Given the description of an element on the screen output the (x, y) to click on. 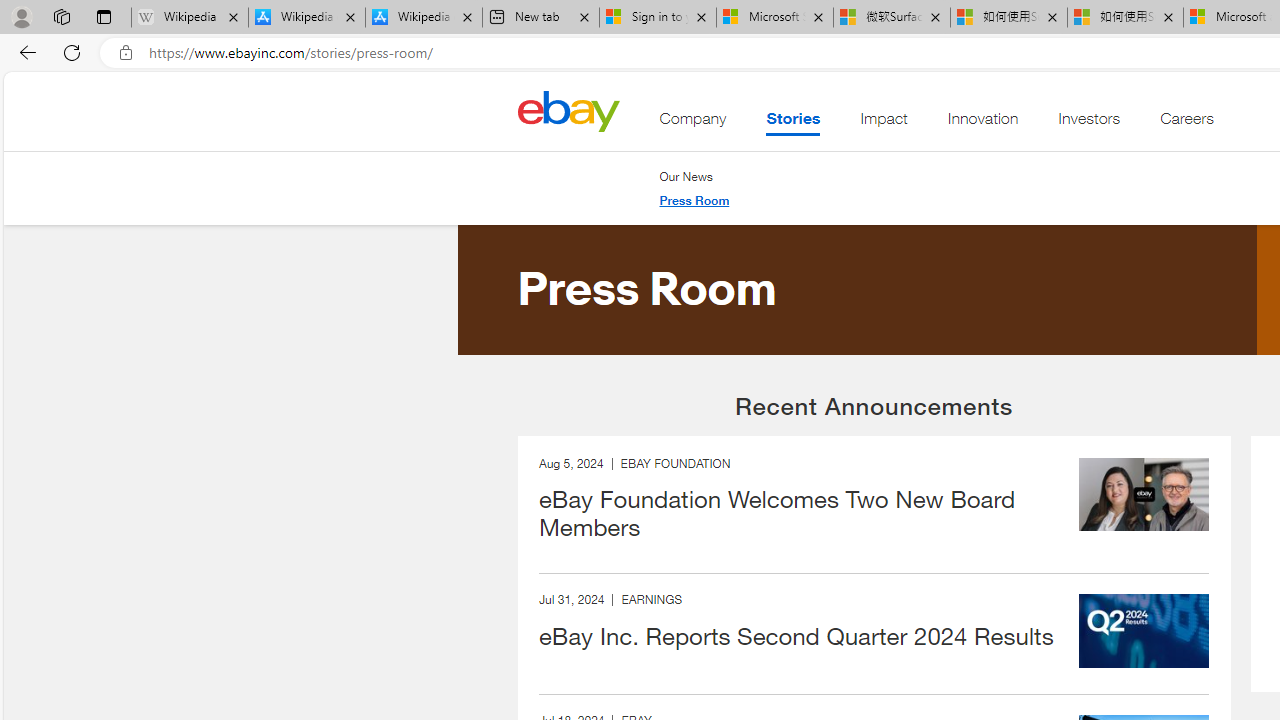
Company (693, 123)
Company (693, 123)
Stories . This is the current section. (792, 123)
Careers (1186, 123)
Impact (883, 123)
Press Room (694, 200)
Our News (694, 176)
240725 BoardMembers announcement v1 inc 1600x900 image B1 (1144, 494)
Impact (883, 123)
Press Room (694, 201)
